Given the description of an element on the screen output the (x, y) to click on. 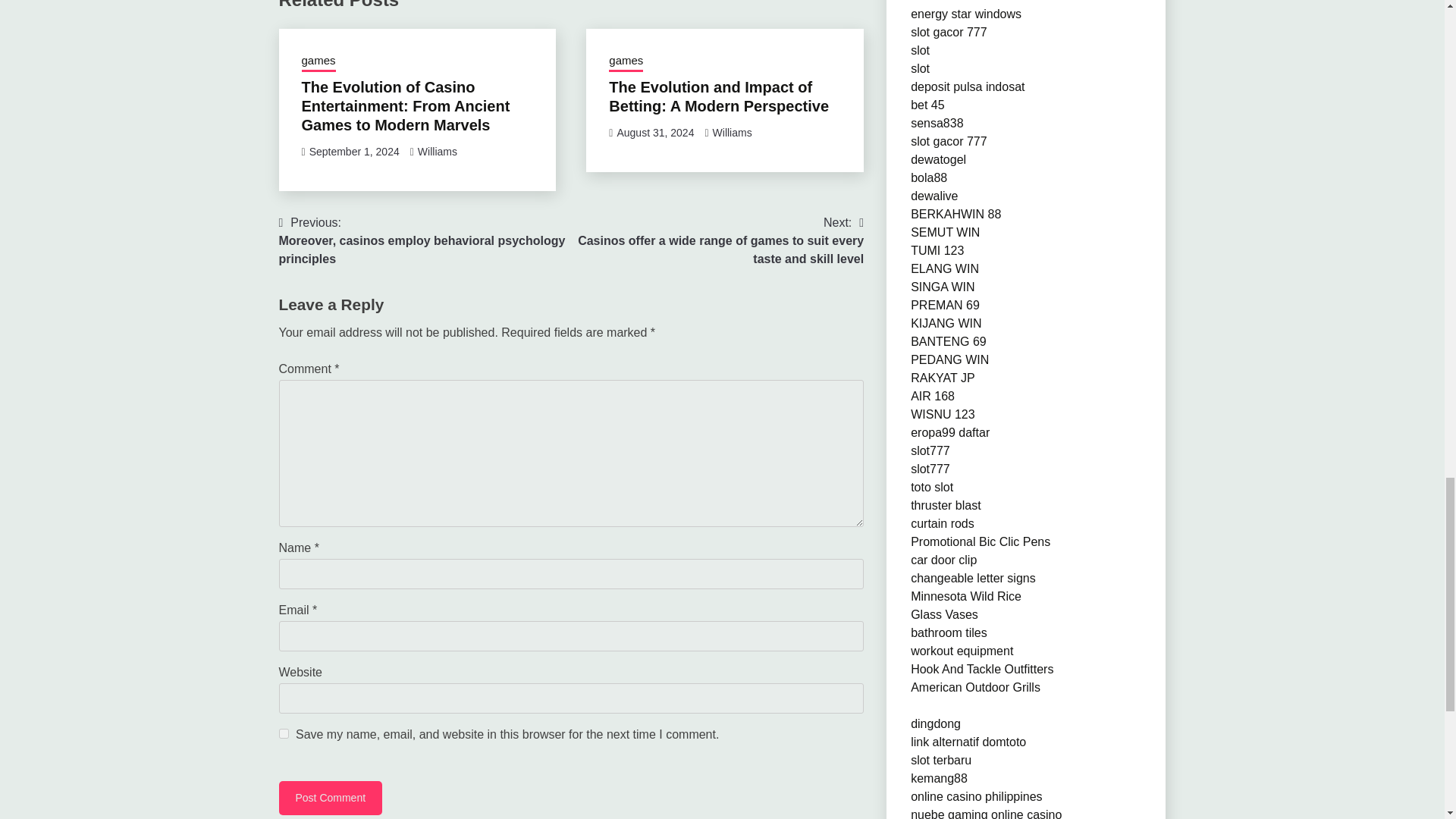
Williams (732, 132)
yes (283, 733)
games (625, 62)
Post Comment (330, 797)
Williams (437, 151)
August 31, 2024 (654, 132)
September 1, 2024 (353, 151)
